Given the description of an element on the screen output the (x, y) to click on. 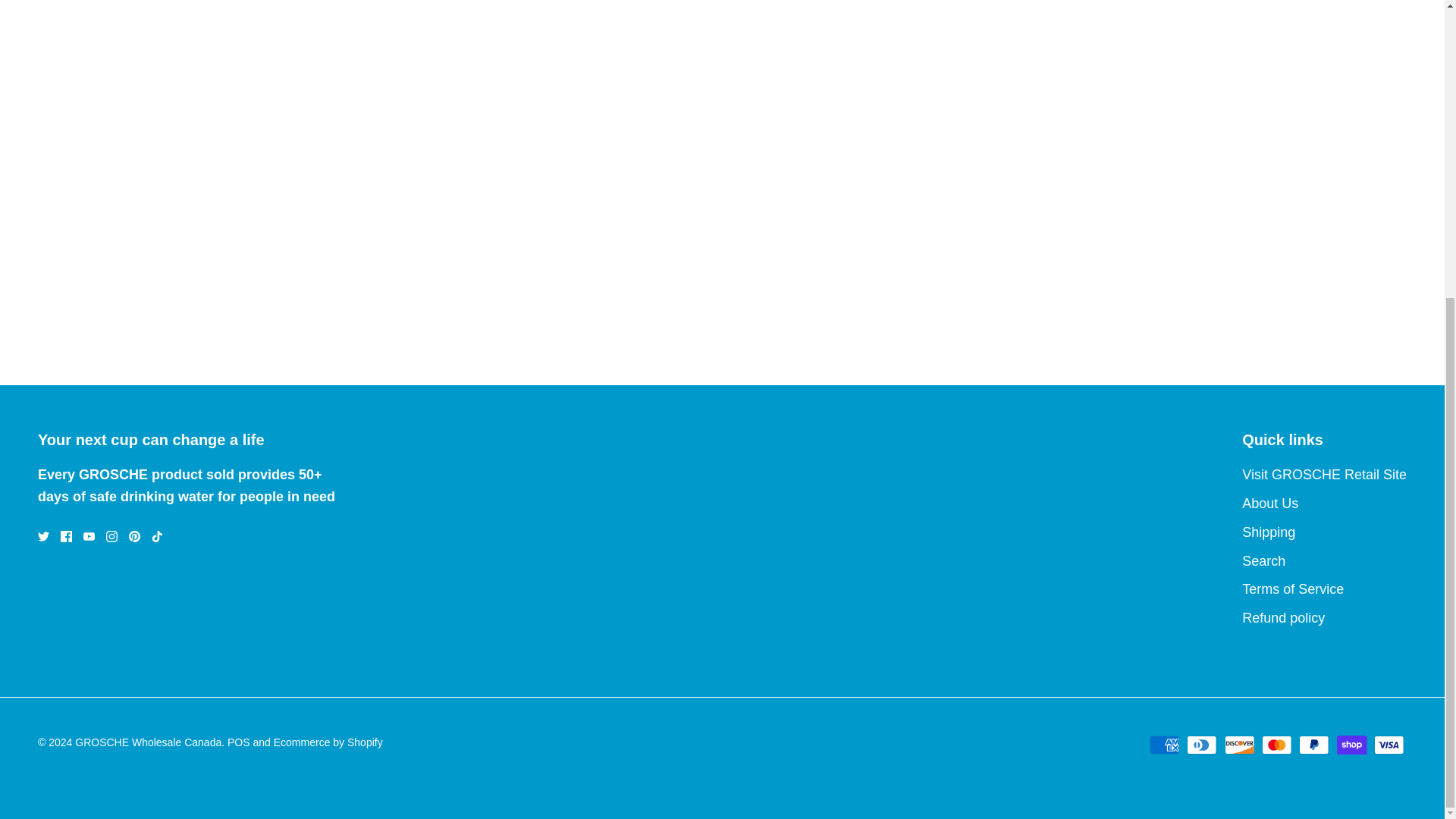
Diners Club (1201, 744)
Visa (1388, 744)
PayPal (1313, 744)
Pinterest (134, 536)
Mastercard (1276, 744)
Discover (1239, 744)
Youtube (88, 536)
Instagram (111, 536)
Shop Pay (1351, 744)
Twitter (43, 536)
